Given the description of an element on the screen output the (x, y) to click on. 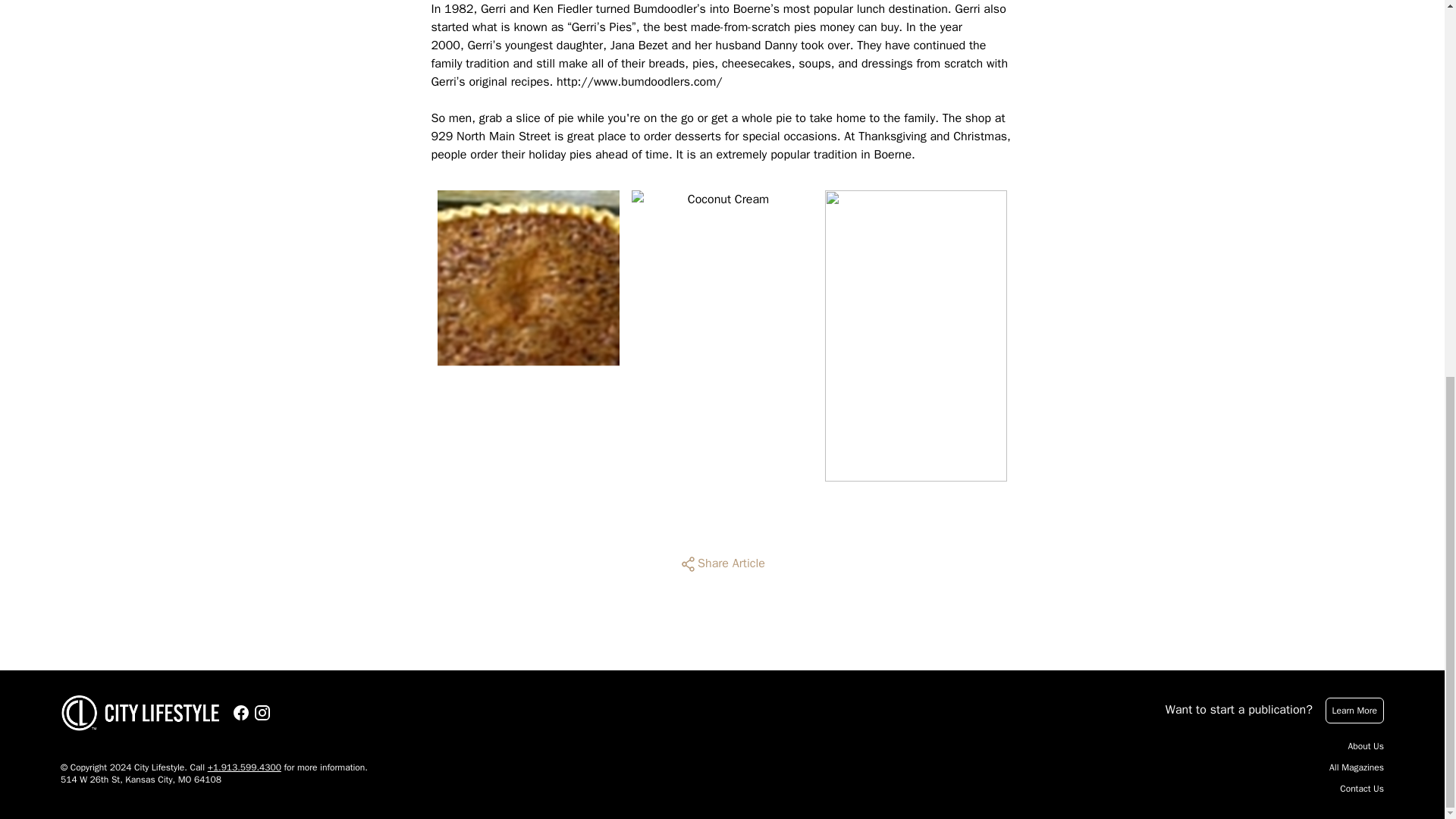
About Us (1366, 746)
Contact Us (1361, 788)
Share Article (722, 563)
All Magazines (1356, 767)
Learn More (1354, 710)
